Given the description of an element on the screen output the (x, y) to click on. 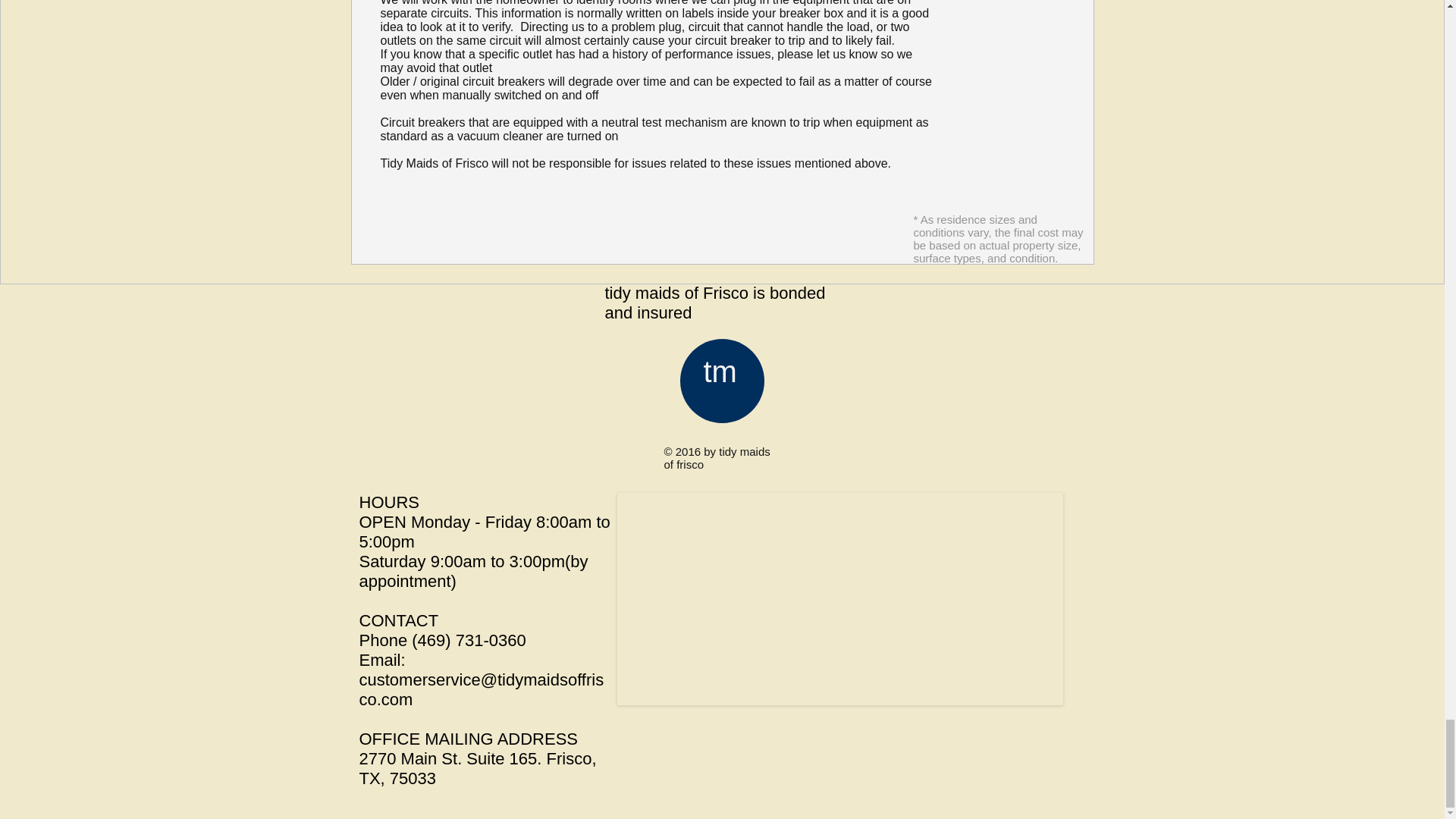
tm (719, 371)
